Given the description of an element on the screen output the (x, y) to click on. 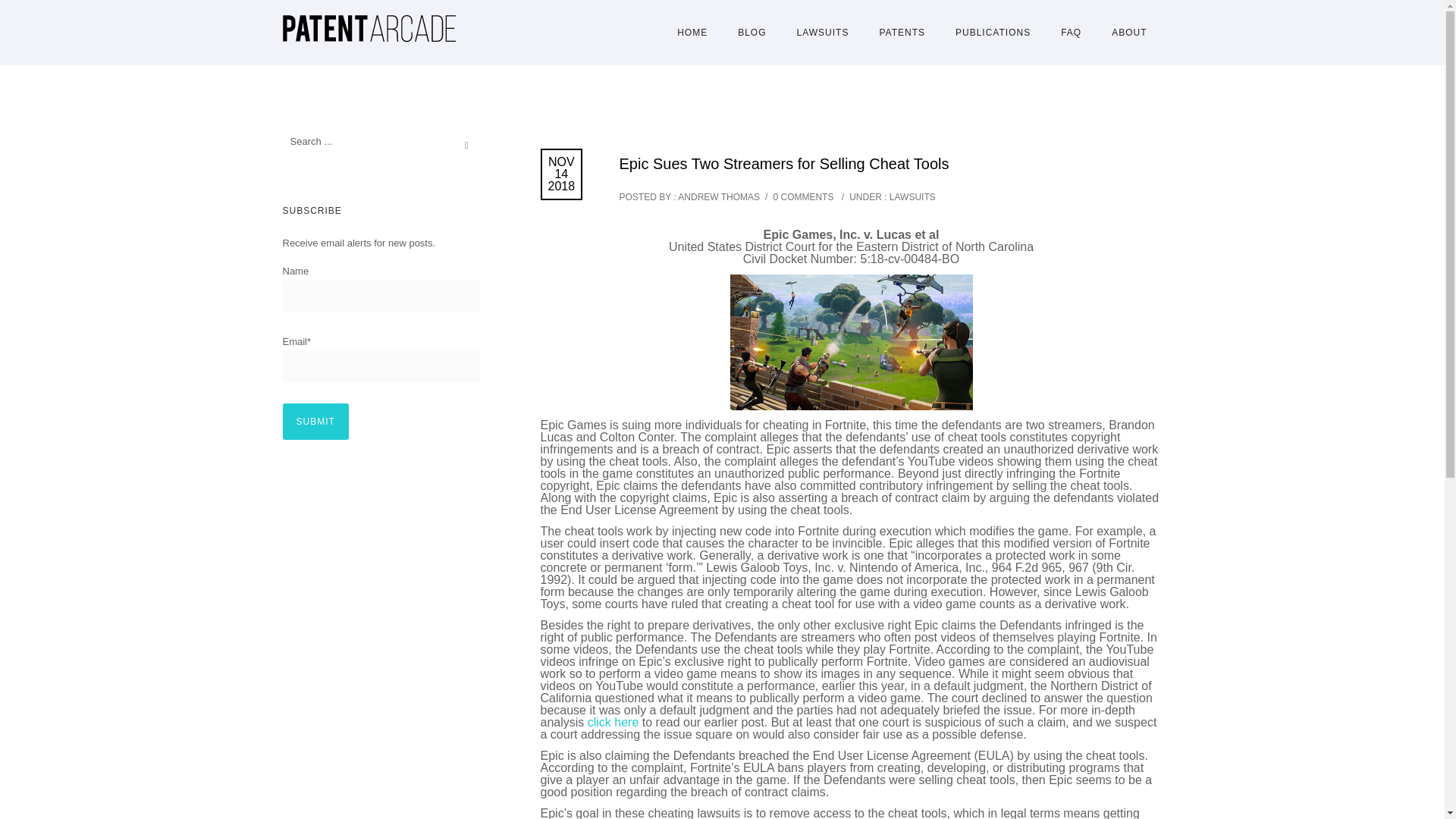
FAQ (1070, 32)
Home (692, 32)
Submit (314, 421)
Patents (901, 32)
0 COMMENTS (802, 196)
ABOUT (1128, 32)
Blog (751, 32)
Submit (314, 421)
Publications (992, 32)
Epic Sues Two Streamers for Selling Cheat Tools (783, 163)
LAWSUITS (911, 196)
HOME (692, 32)
PATENTS (901, 32)
About (1128, 32)
BLOG (751, 32)
